Given the description of an element on the screen output the (x, y) to click on. 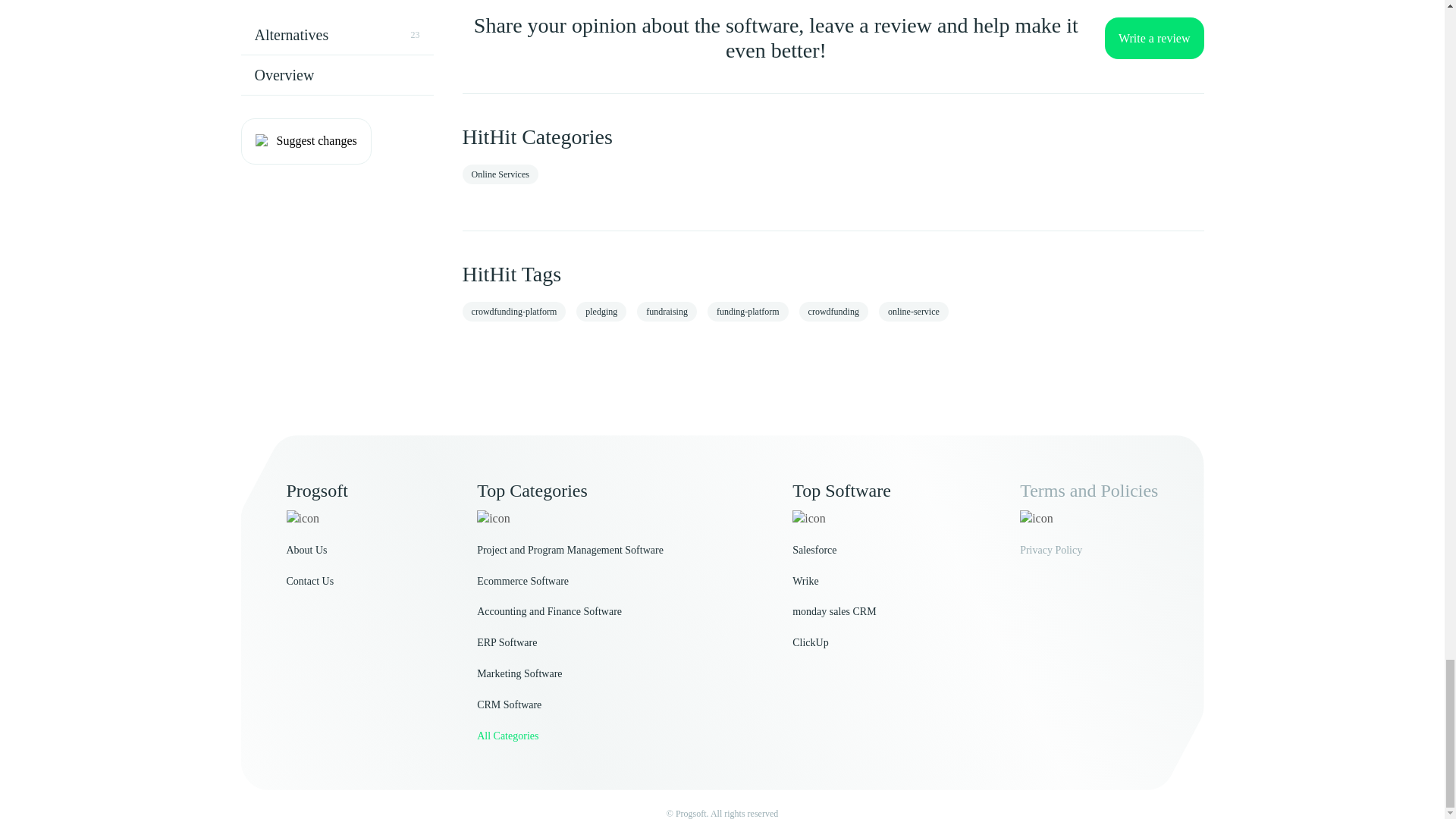
Go to Online Services (500, 174)
